Given the description of an element on the screen output the (x, y) to click on. 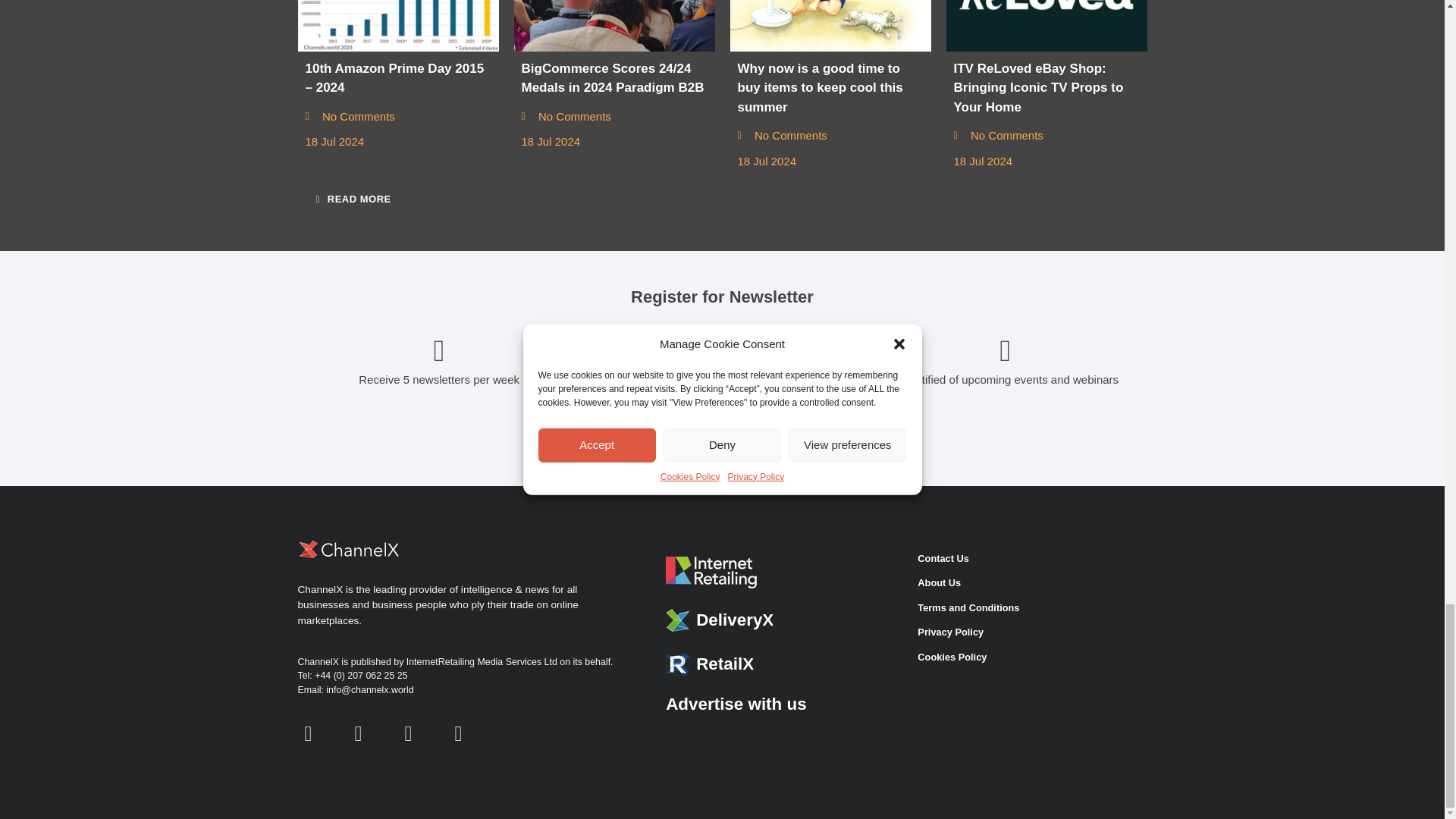
Why now is a good time to buy items to keep cool this summer (829, 25)
BigCommerce Scores 24 out of 24 Medals in 2024 Paradigm B2B (613, 25)
ITV ReLoved eBay Shop: Bringing Iconic TV Props to Your Home (1046, 25)
